Given the description of an element on the screen output the (x, y) to click on. 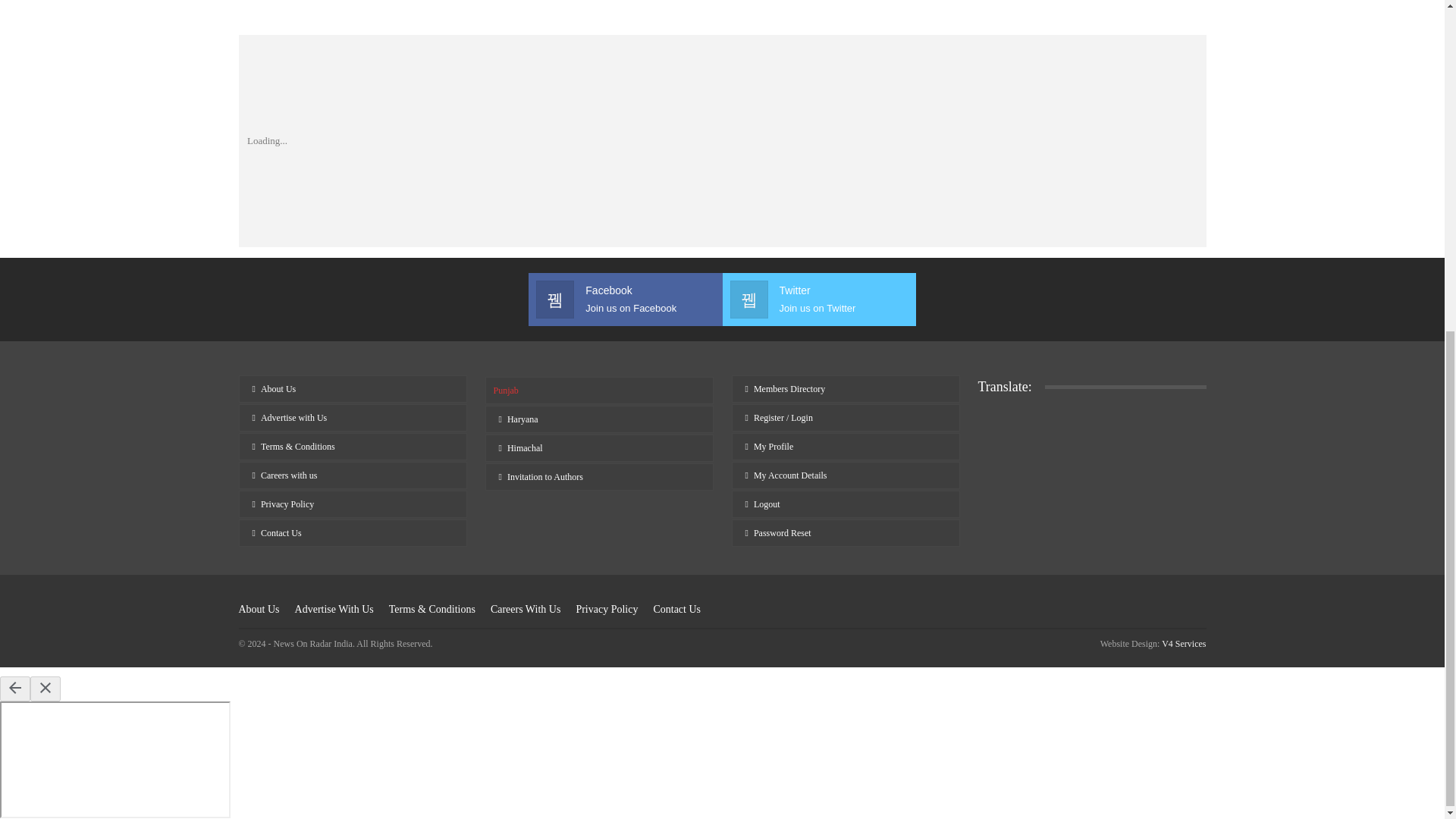
My Account Details (818, 344)
Haryana (844, 520)
Search (598, 464)
Careers with us (963, 9)
Search for: (351, 520)
Himachal (722, 9)
Members Directory (598, 492)
Search (844, 433)
Punjab (963, 9)
Privacy Policy (598, 435)
Invitation to Authors (351, 549)
About Us (598, 522)
My Profile (351, 433)
Advertise with Us (844, 492)
